Given the description of an element on the screen output the (x, y) to click on. 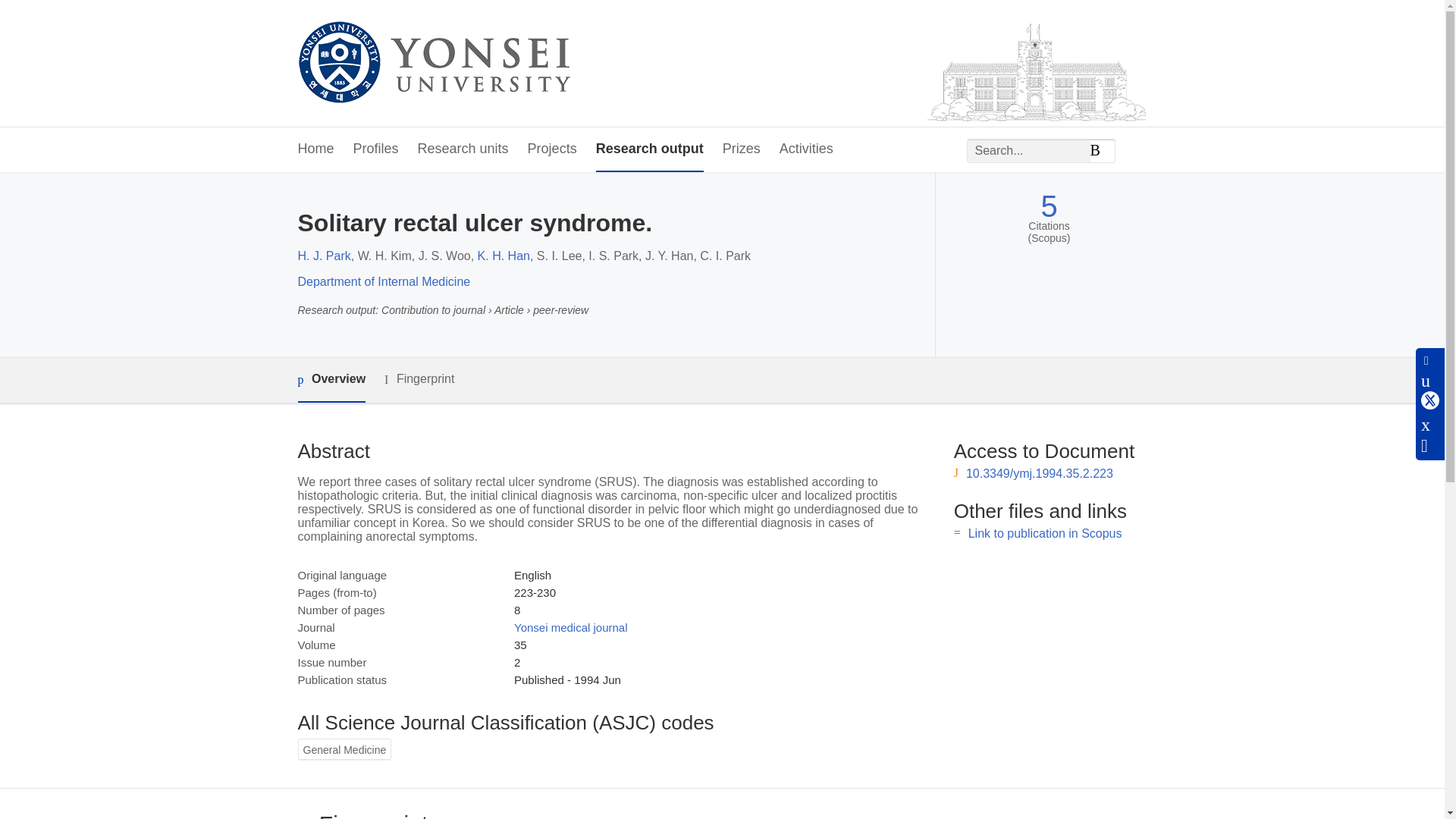
H. J. Park (323, 255)
Profiles (375, 149)
Link to publication in Scopus (1045, 533)
Projects (551, 149)
Research output (649, 149)
K. H. Han (503, 255)
Department of Internal Medicine (383, 281)
Activities (805, 149)
Fingerprint (419, 379)
Yonsei medical journal (570, 626)
Research units (462, 149)
Overview (331, 379)
Yonsei University Home (433, 63)
